Given the description of an element on the screen output the (x, y) to click on. 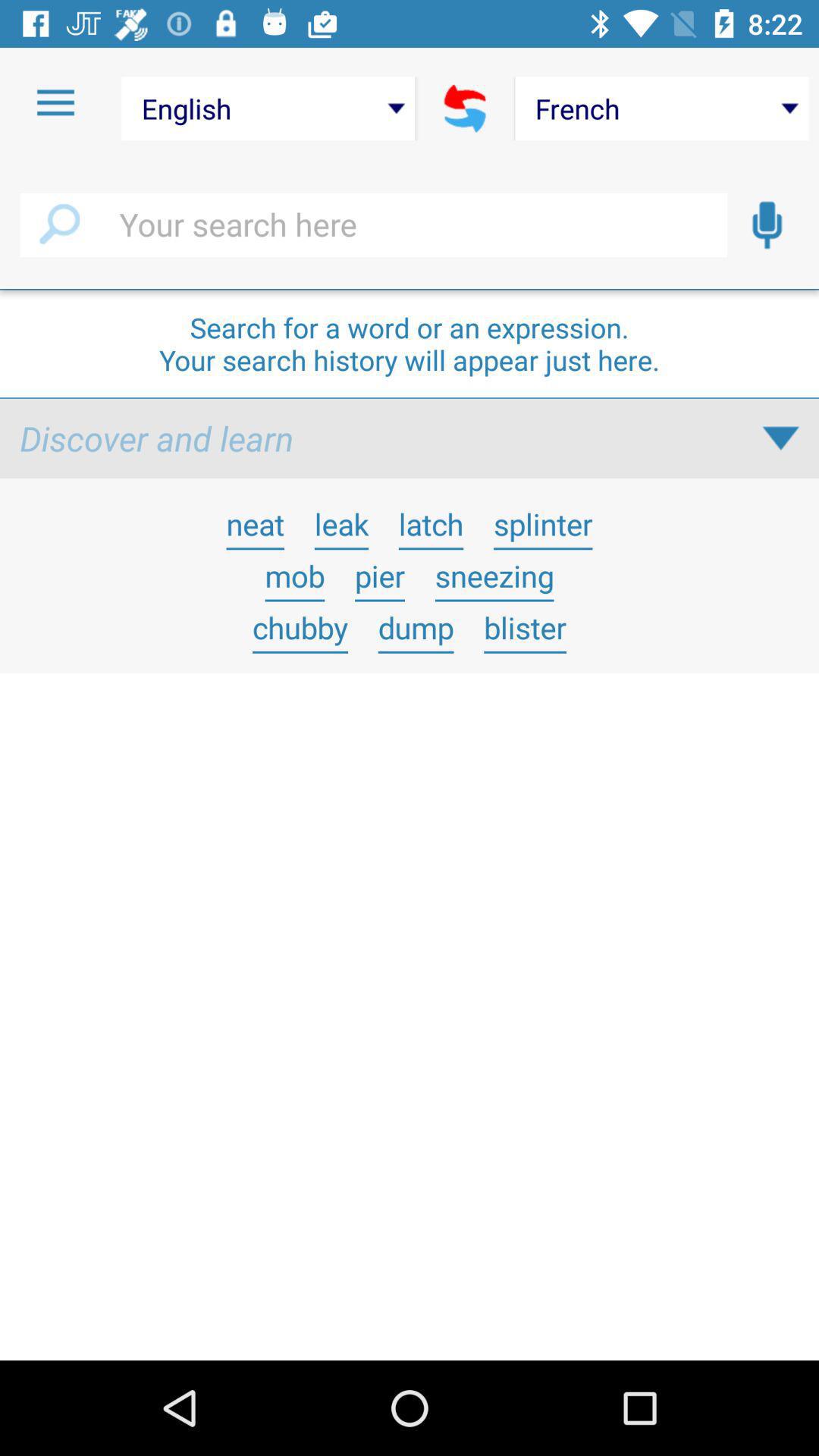
select blister (525, 627)
